Given the description of an element on the screen output the (x, y) to click on. 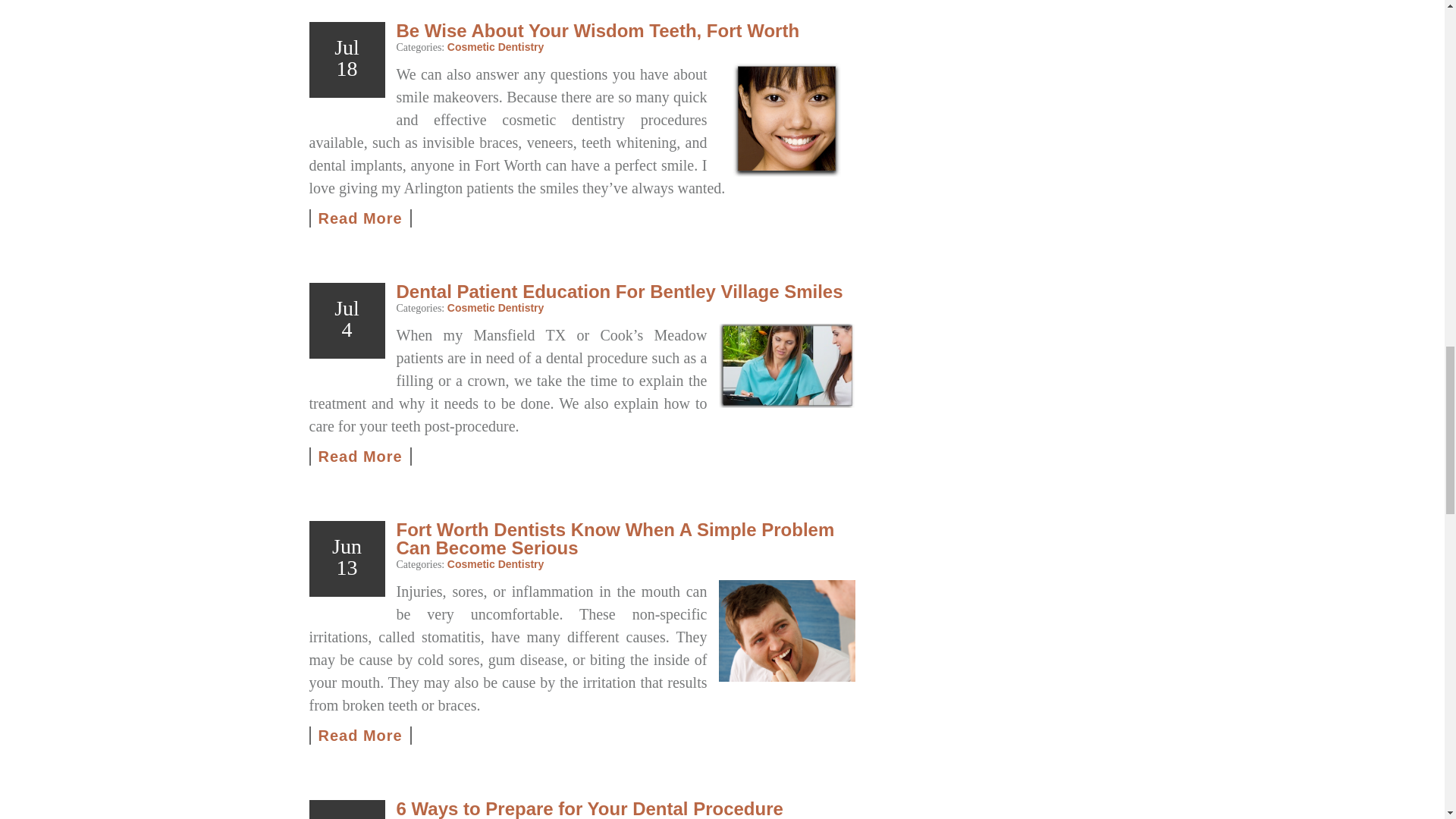
Dental Patient Education For Bentley Village Smiles (360, 456)
Be Wise About Your Wisdom Teeth, Fort Worth (787, 119)
Dental Patient Education For Bentley Village Smiles (787, 365)
Be Wise About Your Wisdom Teeth, Fort Worth (360, 218)
